Given the description of an element on the screen output the (x, y) to click on. 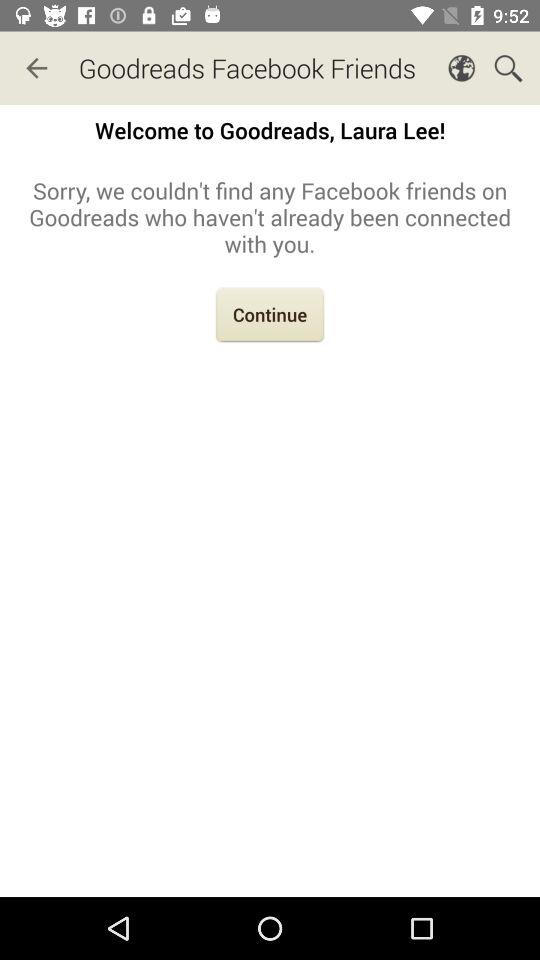
click continue item (269, 316)
